Given the description of an element on the screen output the (x, y) to click on. 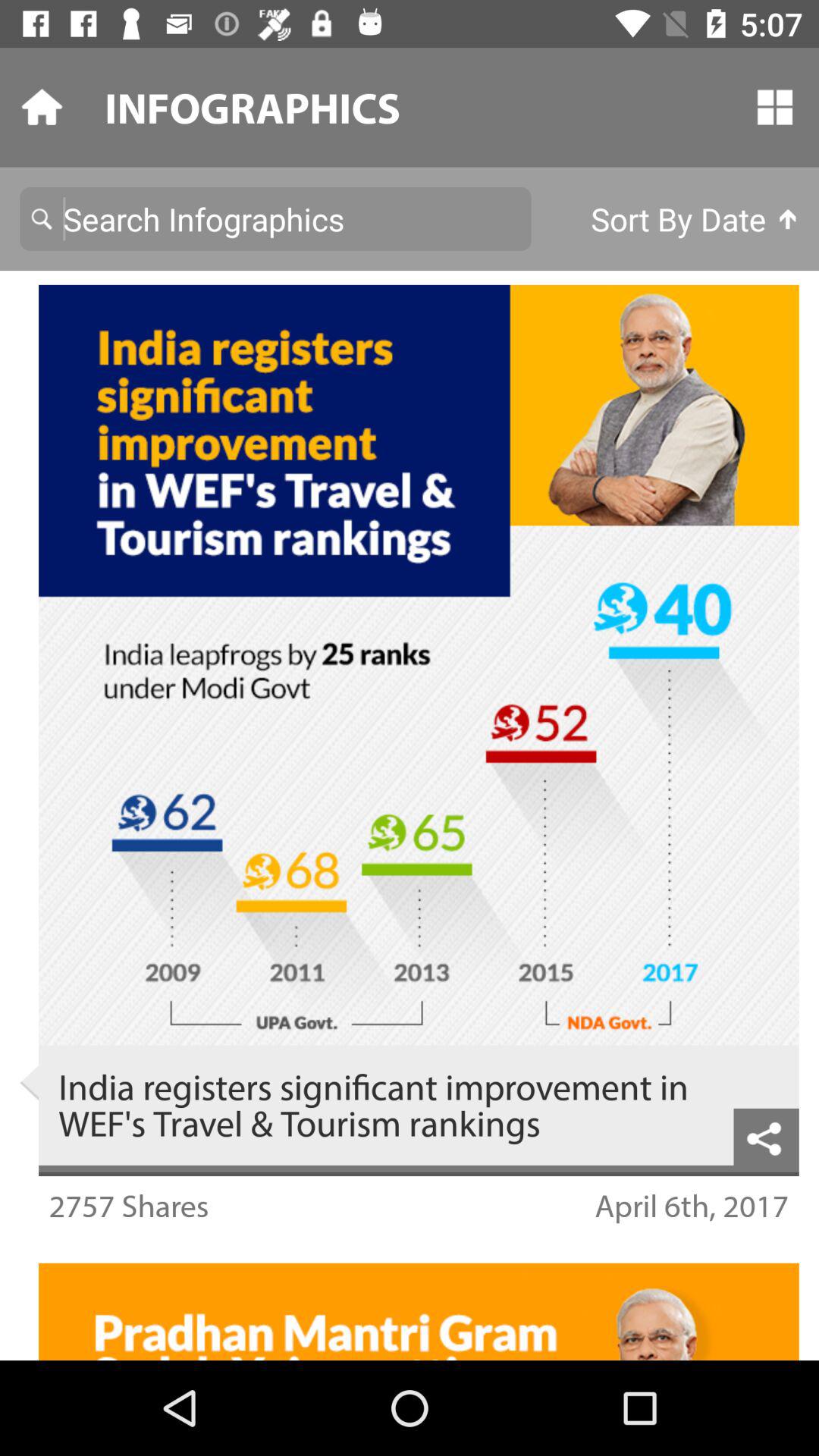
launch the icon below the infographics (694, 218)
